Given the description of an element on the screen output the (x, y) to click on. 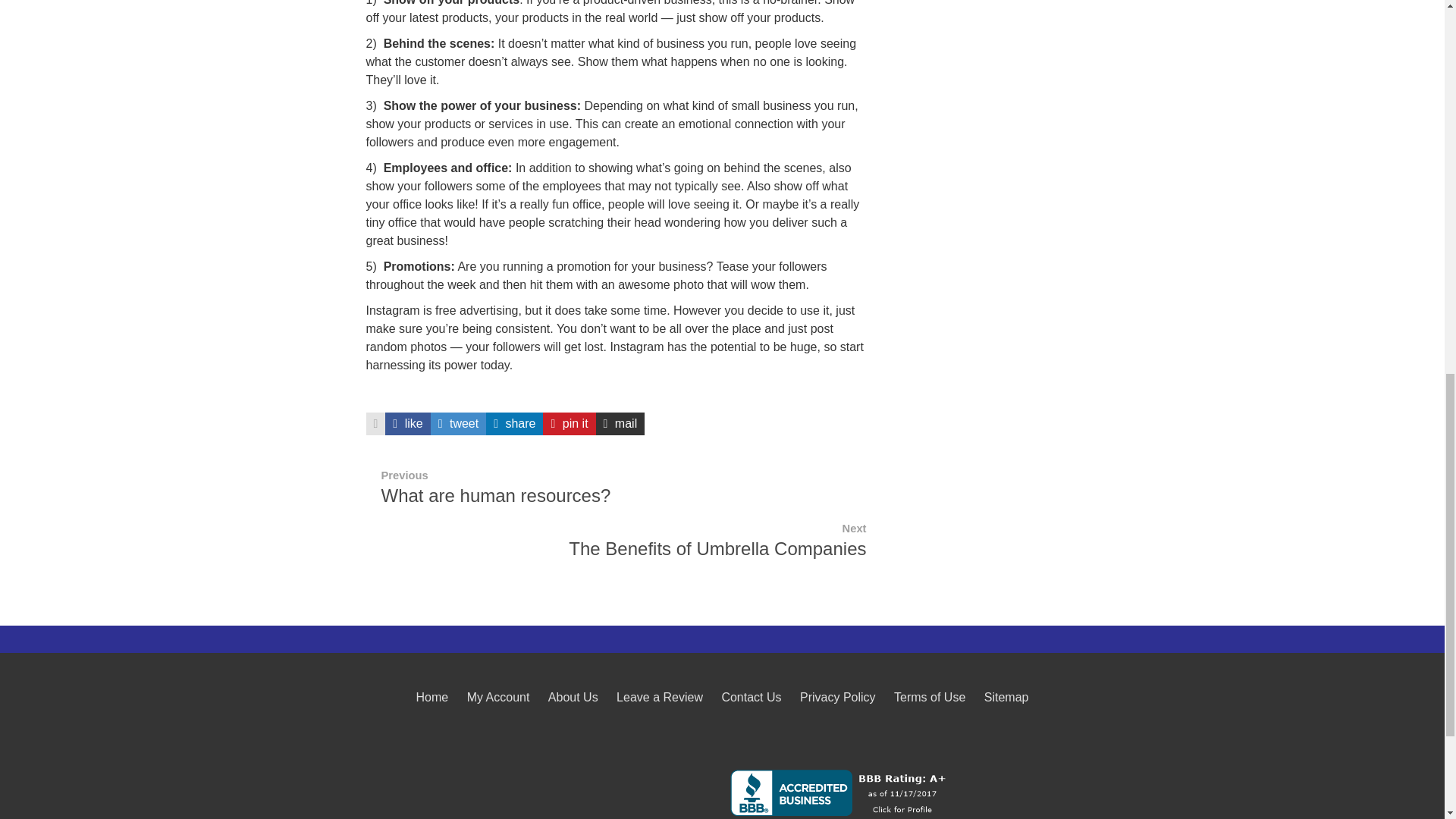
How Can Instagram Help Your Small Business? (407, 423)
How Can Instagram Help Your Small Business? (514, 423)
TrustedSite Certified (552, 791)
How Can Instagram Help Your Small Business? (458, 423)
